Given the description of an element on the screen output the (x, y) to click on. 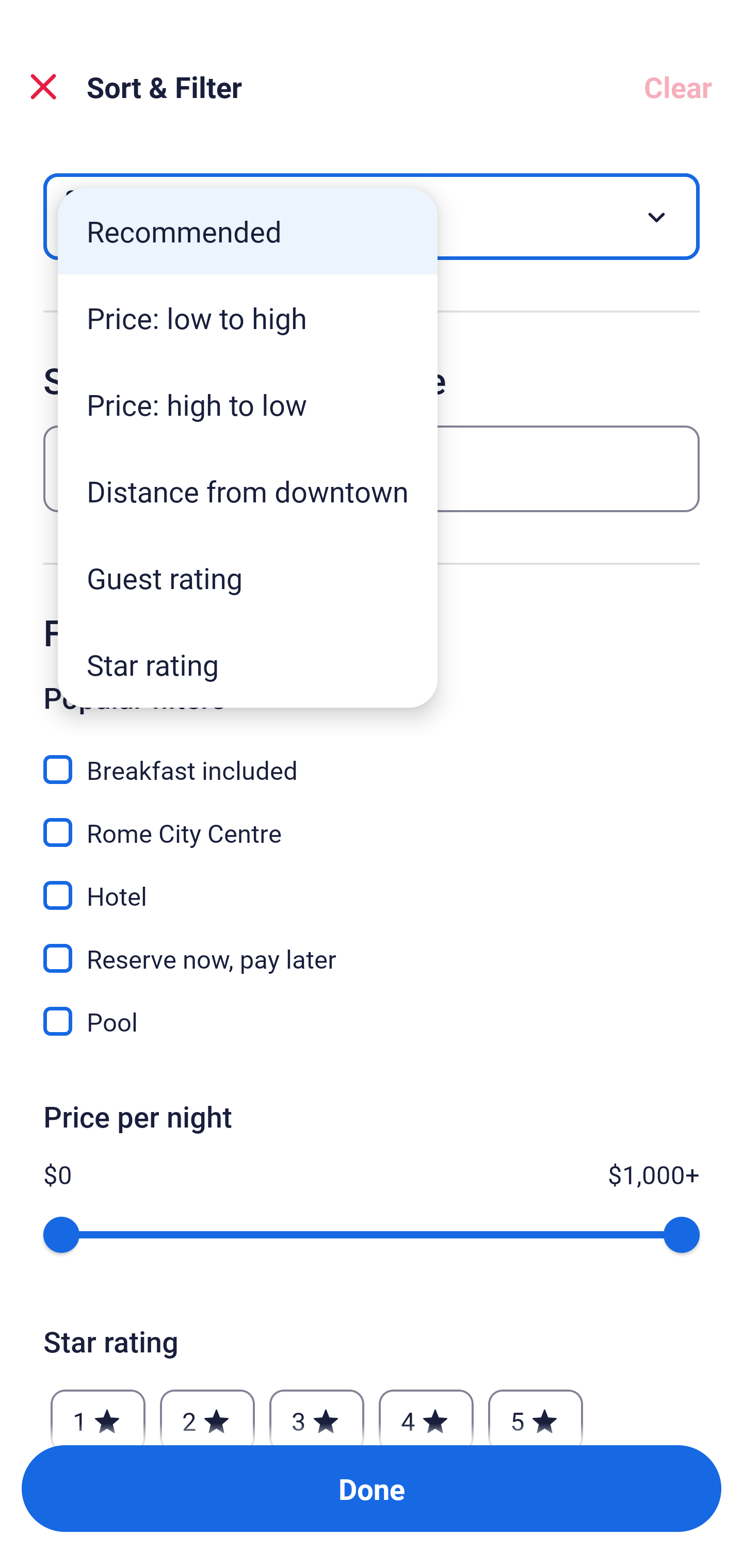
Price: low to high (247, 317)
Price: high to low (247, 404)
Distance from downtown (247, 491)
Guest rating (247, 577)
Star rating (247, 663)
